Given the description of an element on the screen output the (x, y) to click on. 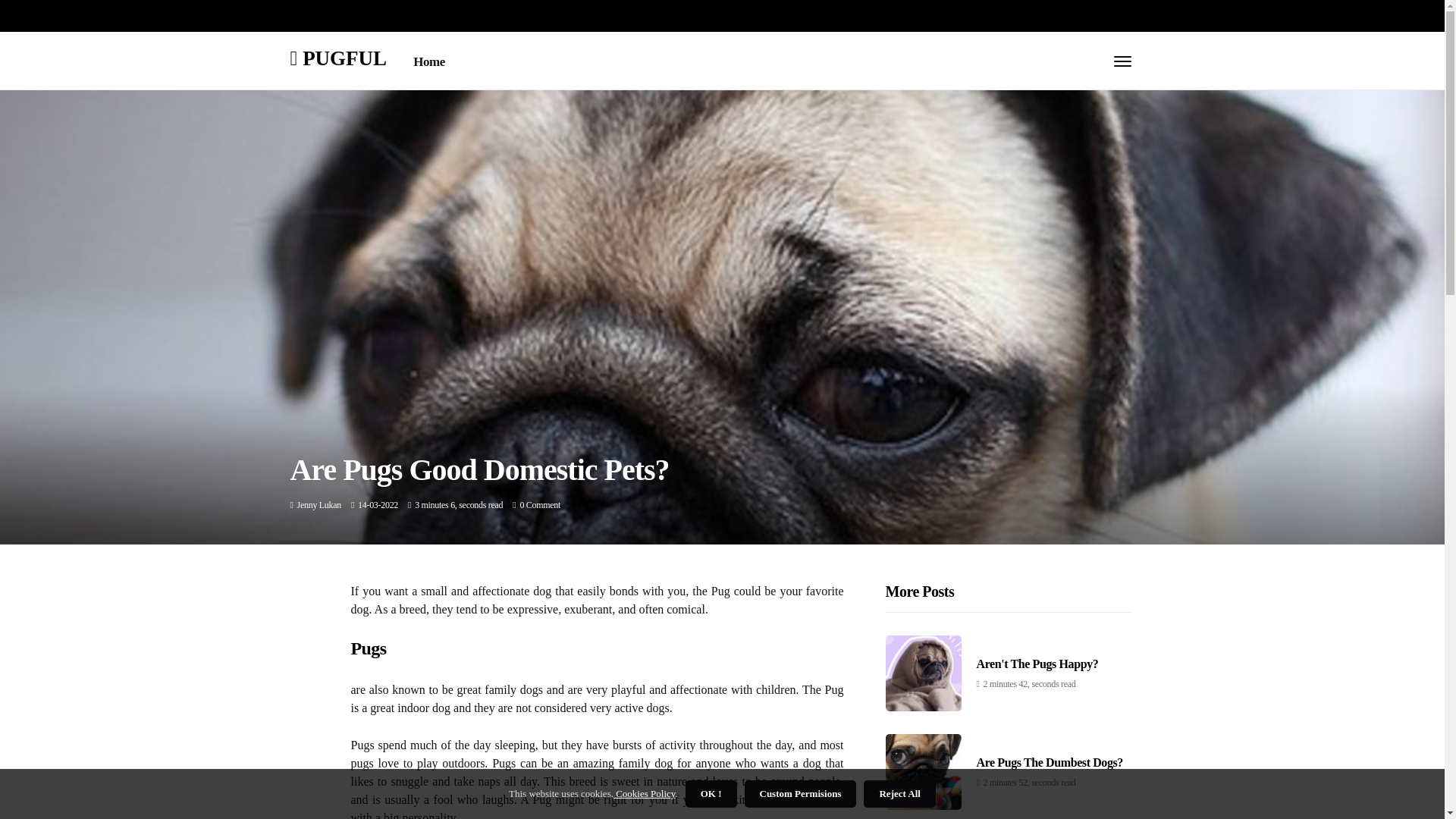
Home (429, 61)
0 Comment (539, 504)
Posts by Jenny Lukan (318, 504)
Aren'T The Pugs Happy? (1037, 663)
Are Pugs The Dumbest Dogs? (1049, 762)
Jenny Lukan (318, 504)
PUGFUL (338, 58)
